Given the description of an element on the screen output the (x, y) to click on. 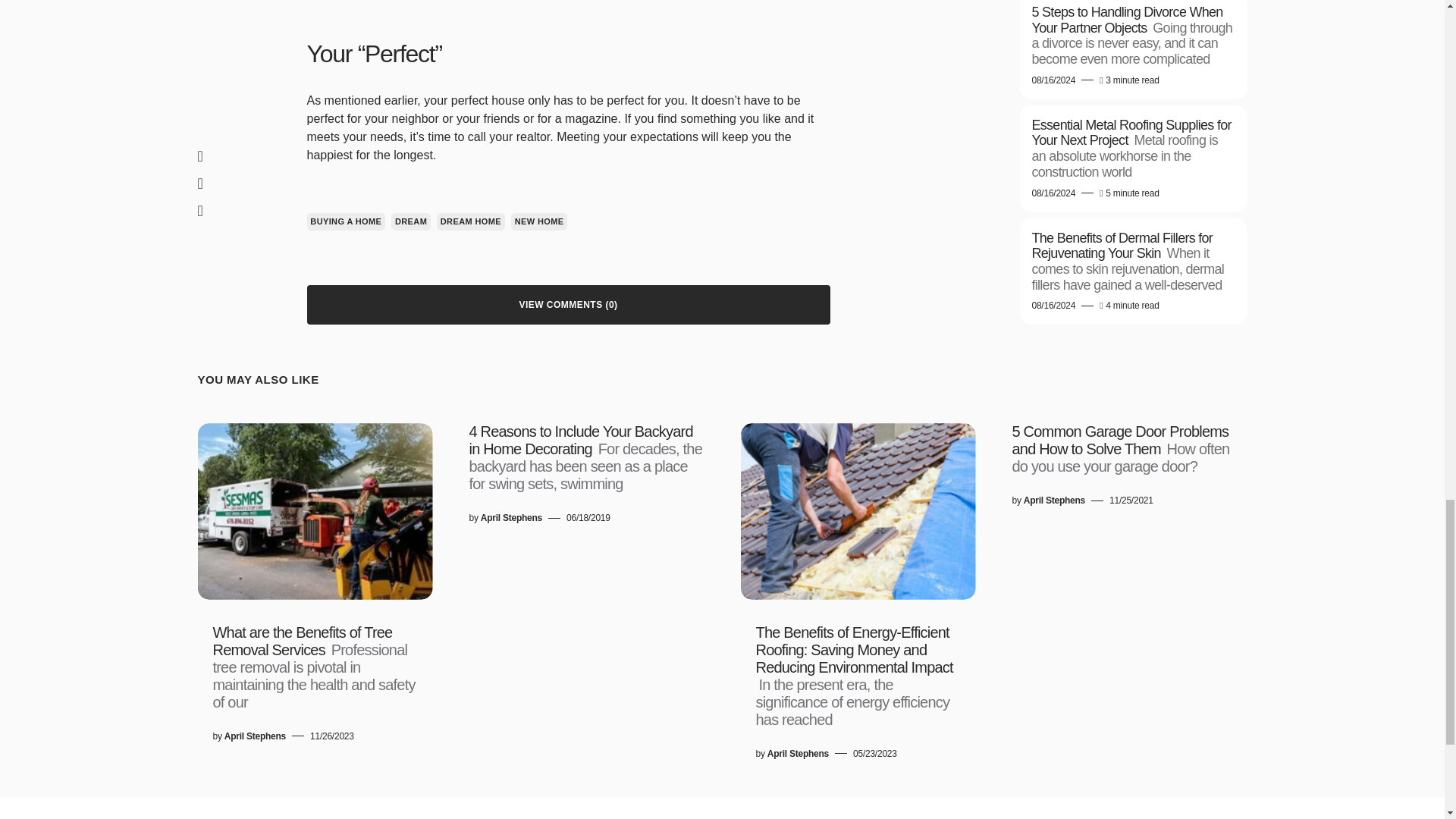
View all posts by April Stephens (510, 517)
View all posts by April Stephens (797, 753)
View all posts by April Stephens (254, 735)
View all posts by April Stephens (1053, 499)
